Given the description of an element on the screen output the (x, y) to click on. 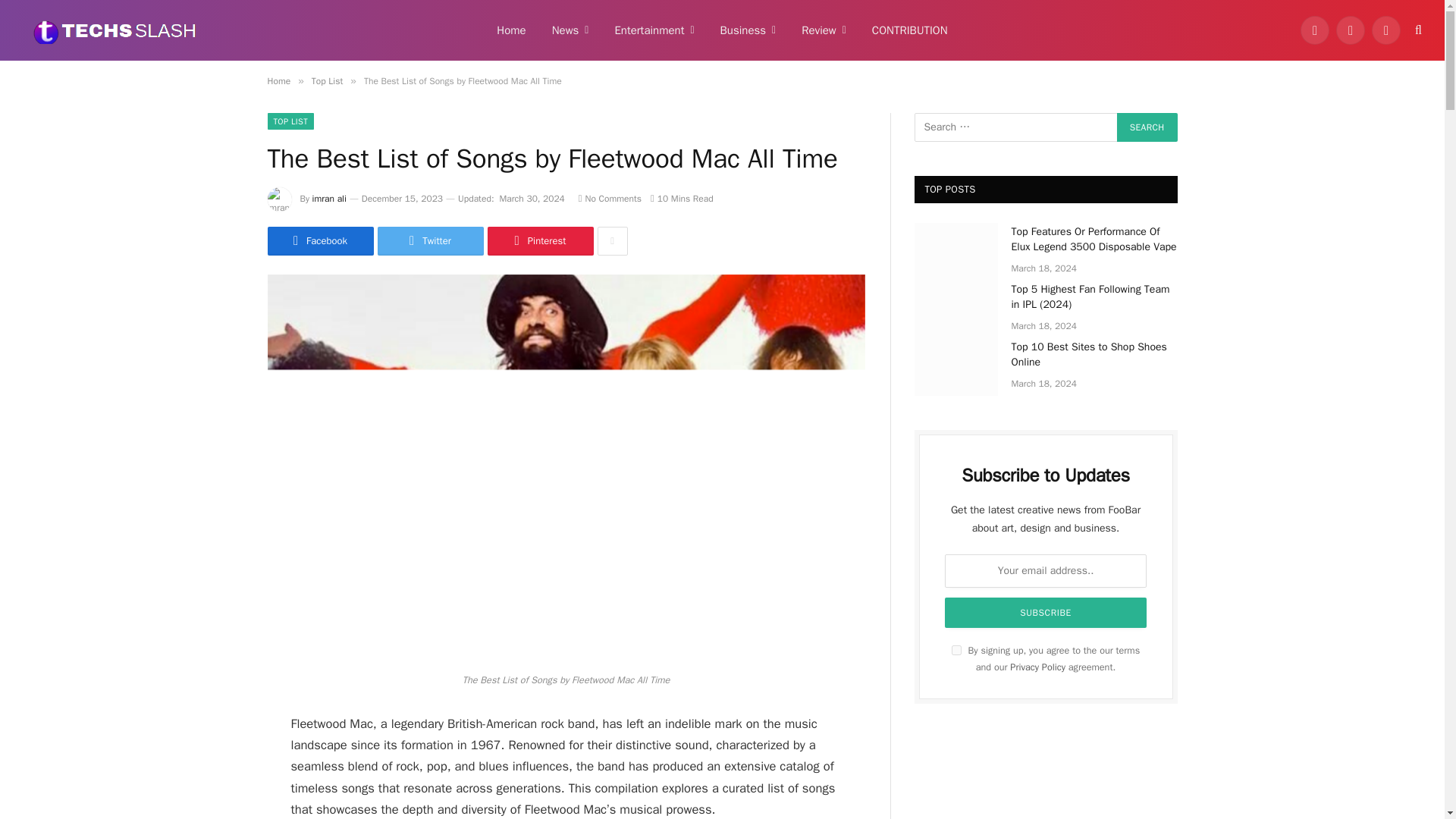
News (570, 30)
Business (748, 30)
on (956, 650)
Share on Pinterest (539, 240)
Facebook (1314, 30)
Entertainment (653, 30)
Search (1146, 127)
Search (1146, 127)
Review (824, 30)
Home (510, 30)
Posts by imran ali (329, 198)
CONTRIBUTION (909, 30)
Techs Slash (114, 30)
Instagram (1385, 30)
Share on Facebook (319, 240)
